Given the description of an element on the screen output the (x, y) to click on. 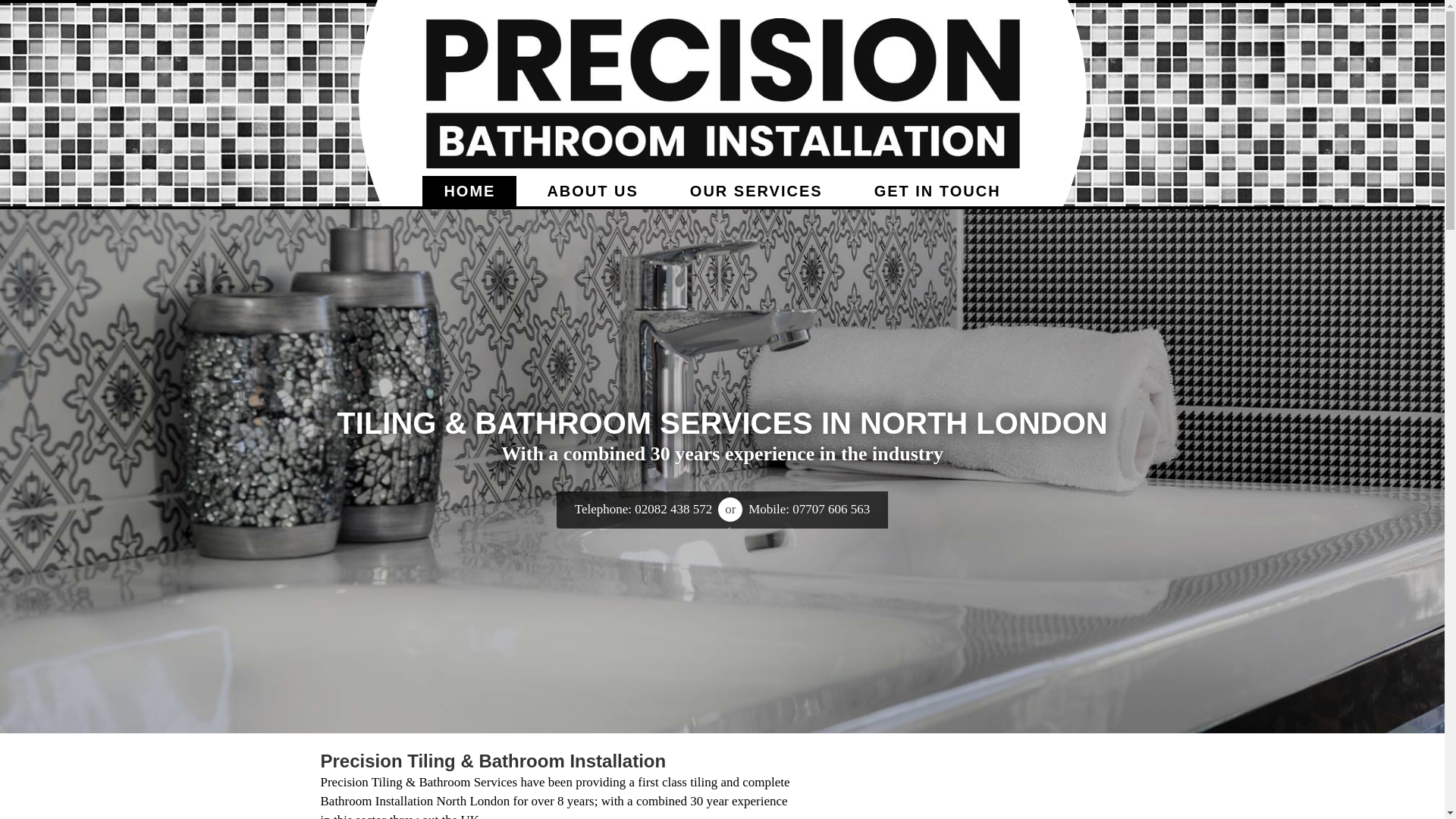
GET IN TOUCH (937, 191)
PrecisionBathroomLogo (722, 93)
Mobile: 07707 606 563 (809, 509)
OUR SERVICES (756, 191)
HOME (469, 191)
ABOUT US (592, 191)
Telephone: 02082 438 572 (643, 509)
